Given the description of an element on the screen output the (x, y) to click on. 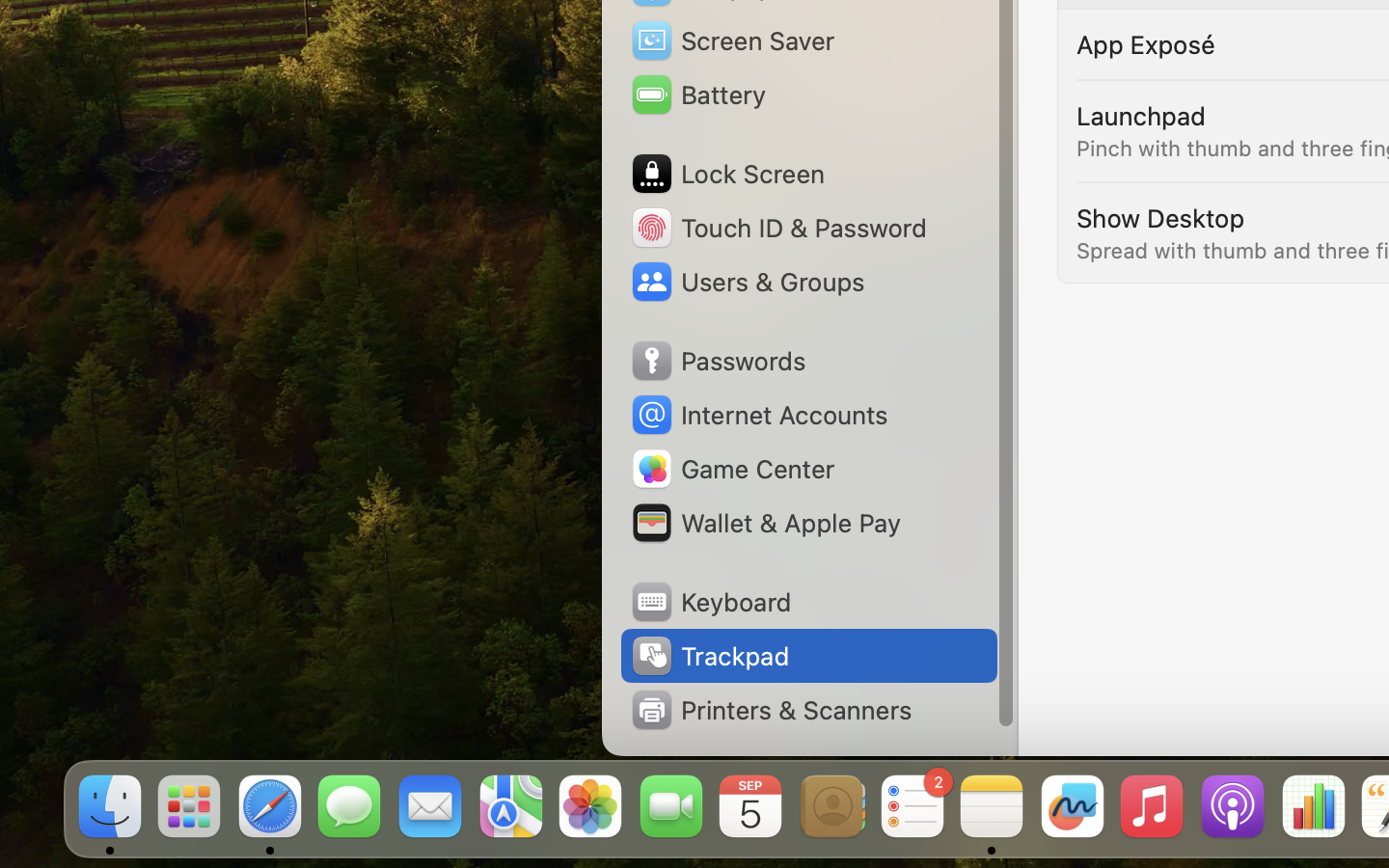
Internet Accounts Element type: AXStaticText (757, 414)
Battery Element type: AXStaticText (696, 94)
Trackpad Element type: AXStaticText (708, 655)
App Exposé Element type: AXStaticText (1145, 43)
Lock Screen Element type: AXStaticText (726, 173)
